Given the description of an element on the screen output the (x, y) to click on. 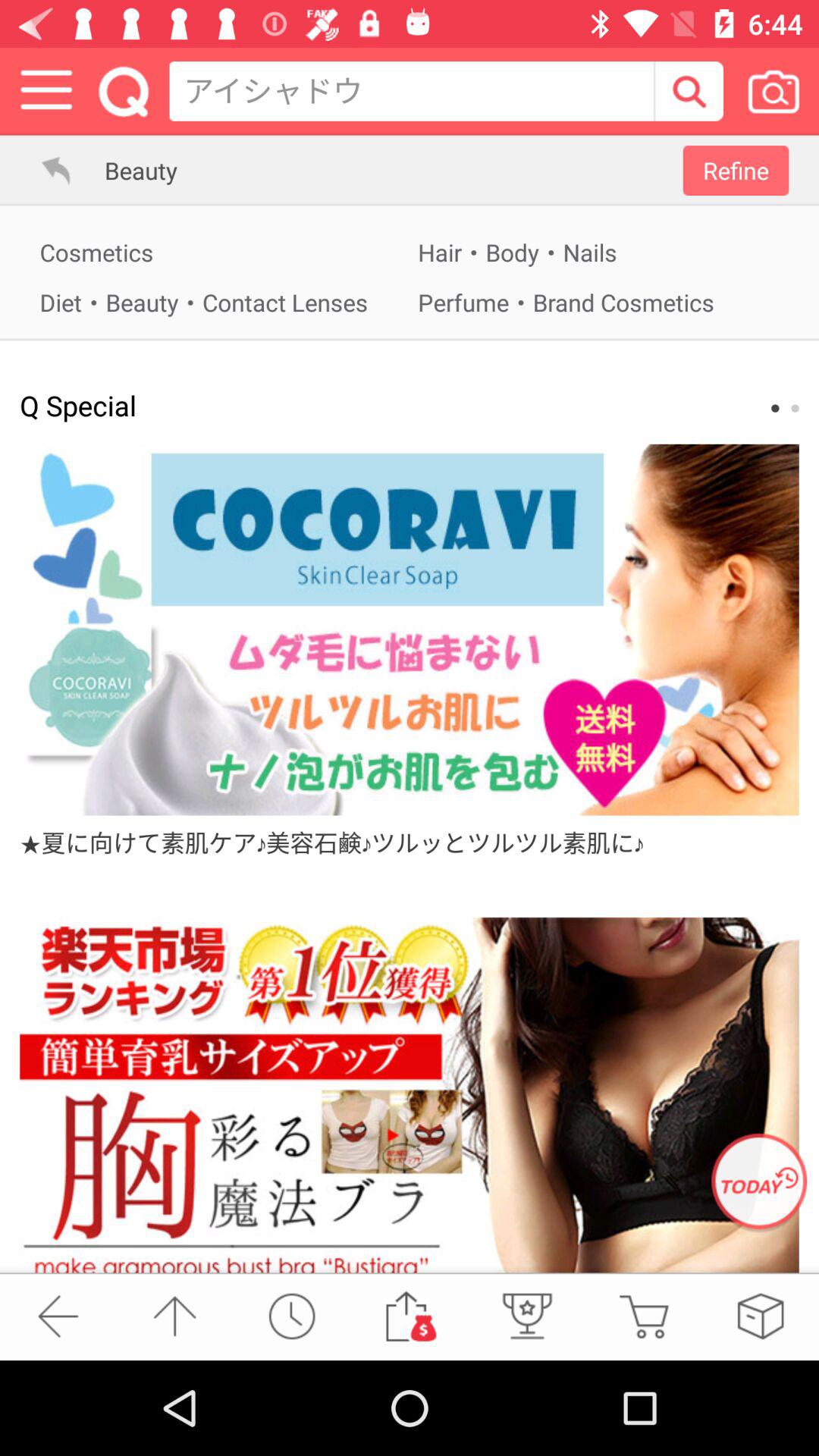
advertisement button (409, 1094)
